Given the description of an element on the screen output the (x, y) to click on. 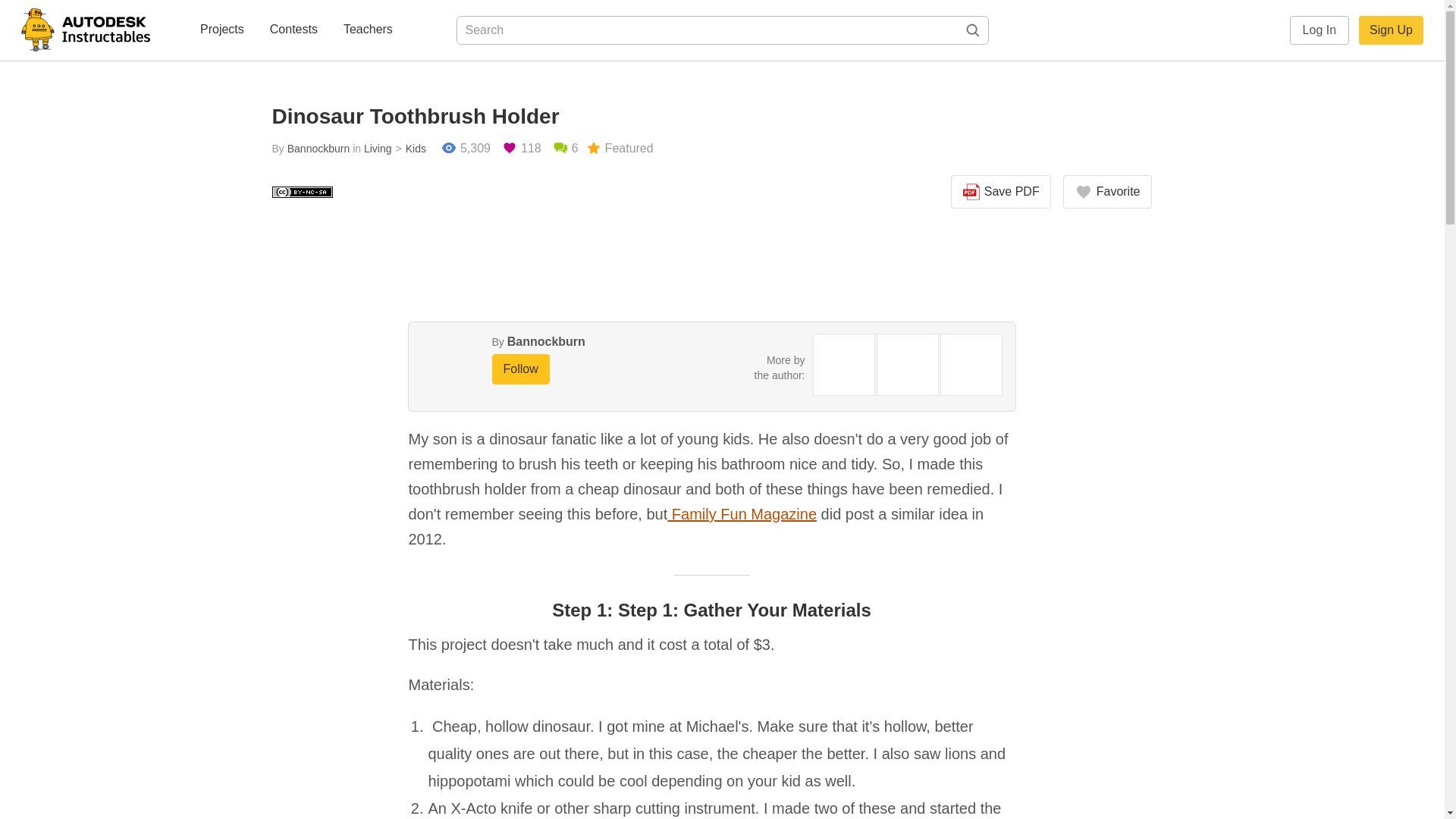
Favorite (1106, 191)
Follow (520, 368)
Bannockburn (545, 341)
Projects (221, 30)
More by the author: (779, 366)
Living (377, 148)
Contests (293, 30)
Log In (1319, 30)
Sign Up (1390, 30)
Bannockburn (318, 148)
Teachers (368, 30)
6 (565, 148)
Kids (408, 148)
Save PDF (1000, 191)
Family Fun Magazine (741, 514)
